Given the description of an element on the screen output the (x, y) to click on. 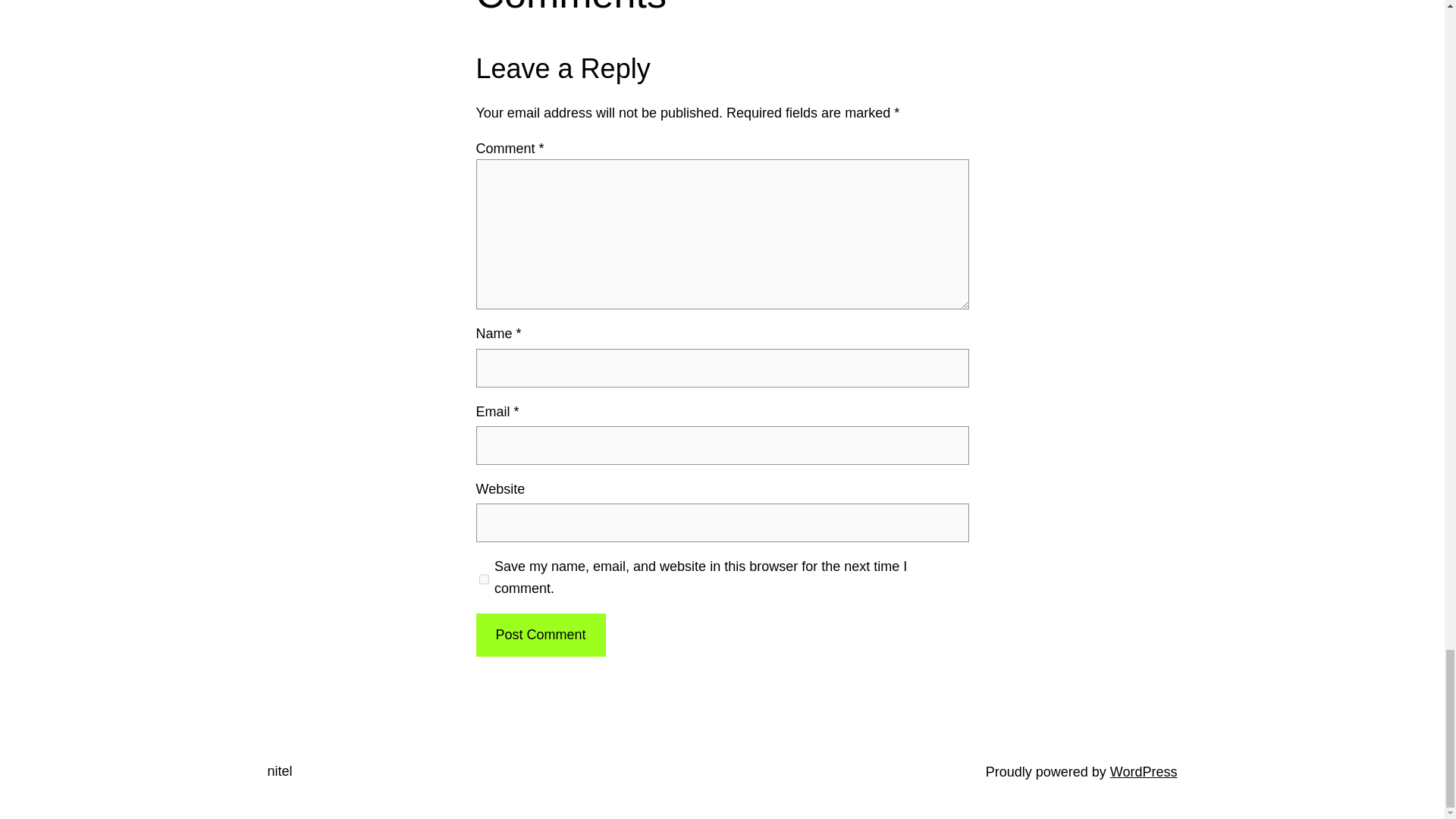
WordPress (1143, 771)
yes (484, 579)
Post Comment (540, 634)
Post Comment (540, 634)
nitel (279, 770)
